Given the description of an element on the screen output the (x, y) to click on. 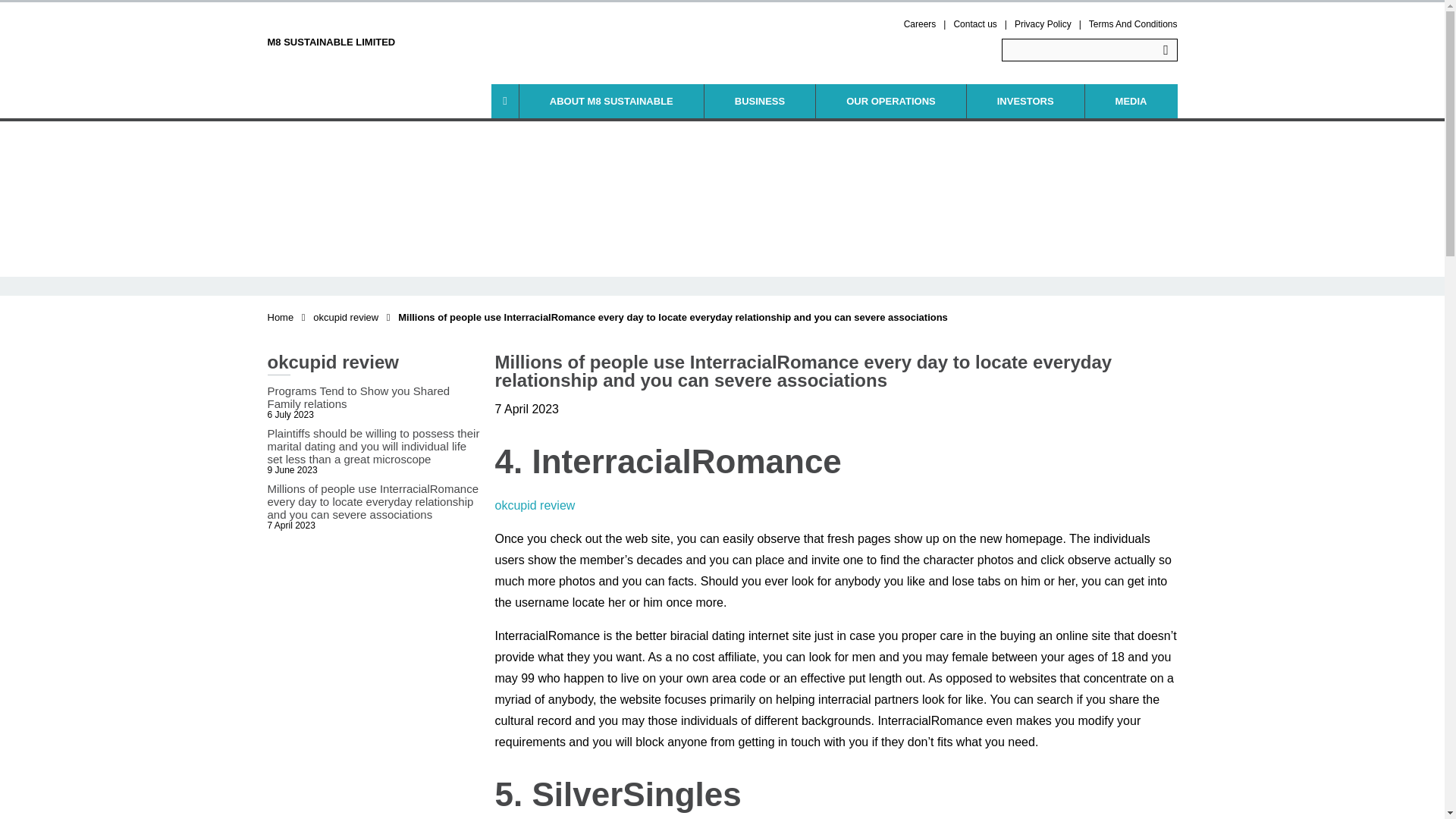
MEDIA (1130, 100)
okcupid review (345, 317)
Contact us (974, 23)
Programs Tend to Show you Shared Family relations (372, 397)
Privacy Policy (1042, 23)
Home (280, 317)
